Given the description of an element on the screen output the (x, y) to click on. 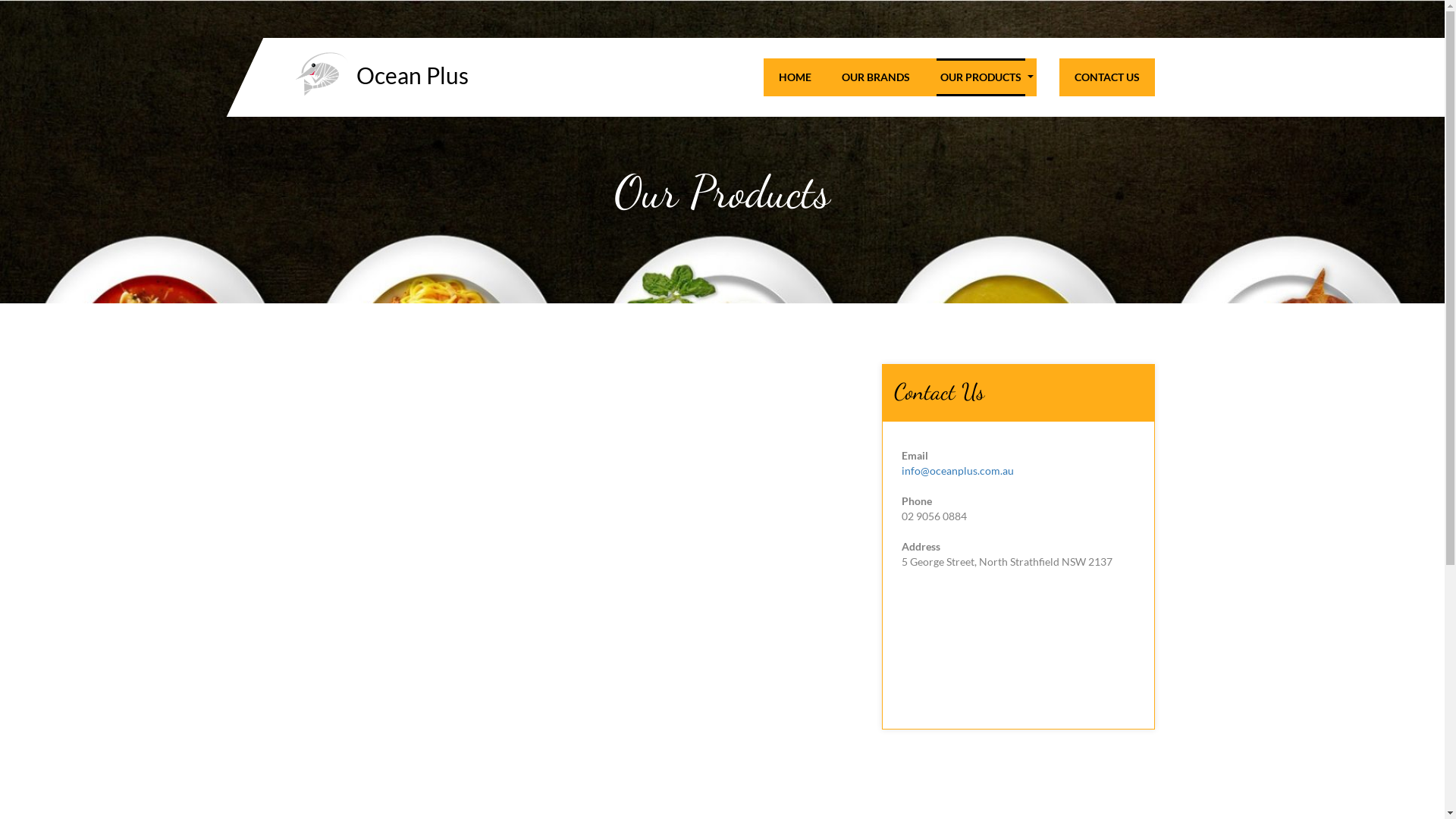
HOME Element type: text (795, 77)
info@oceanplus.com.au Element type: text (956, 470)
OUR BRANDS Element type: text (875, 77)
Ocean Plus Element type: text (412, 74)
OUR PRODUCTS Element type: text (979, 77)
CONTACT US Element type: text (1106, 77)
